Given the description of an element on the screen output the (x, y) to click on. 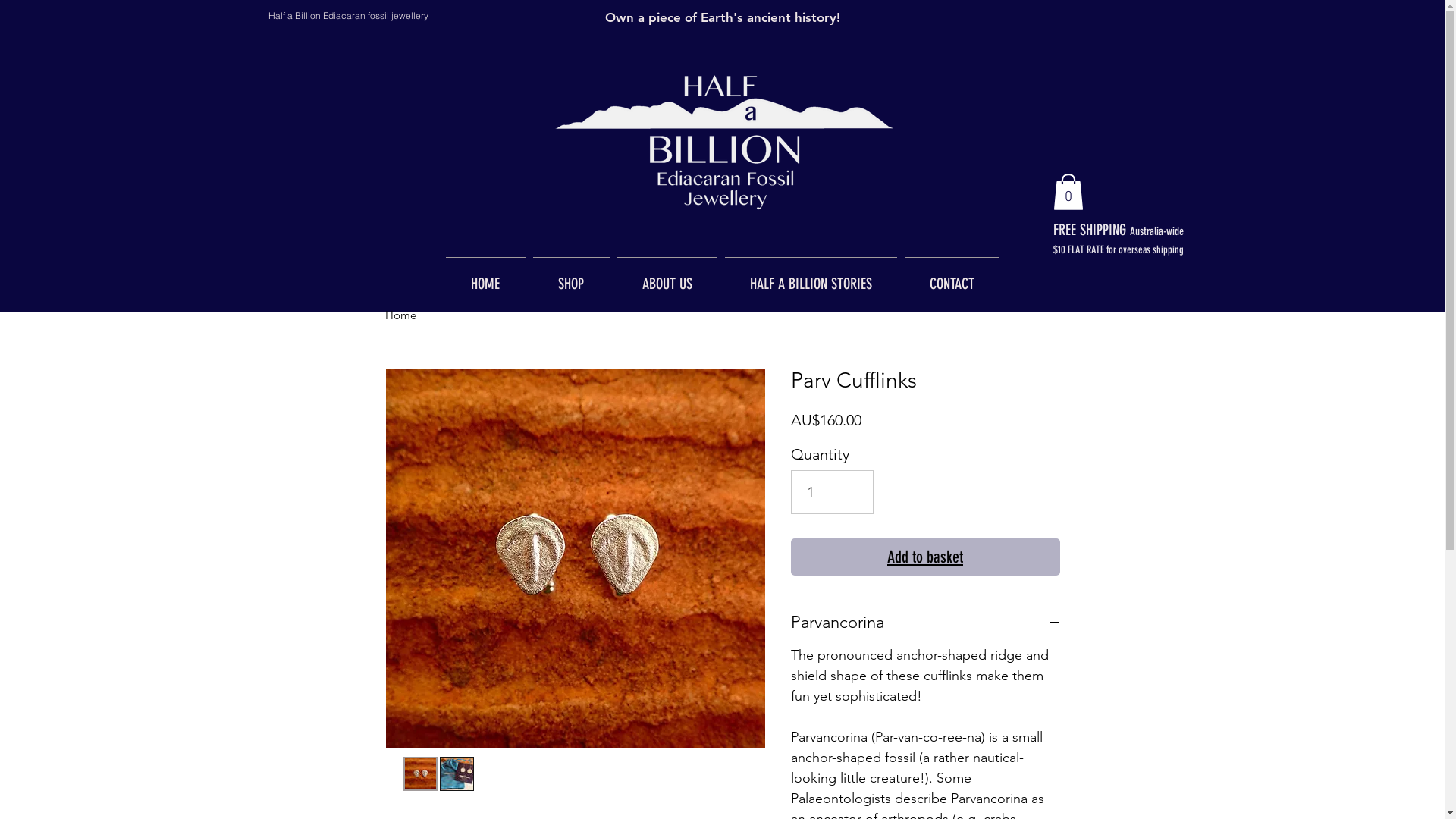
Home Element type: text (400, 314)
Parvancorina Element type: text (924, 621)
Add to basket Element type: text (924, 556)
CONTACT Element type: text (951, 277)
ABOUT US Element type: text (666, 277)
SHOP Element type: text (571, 277)
0 Element type: text (1067, 191)
HOME Element type: text (484, 277)
HALF A BILLION STORIES Element type: text (810, 277)
